Given the description of an element on the screen output the (x, y) to click on. 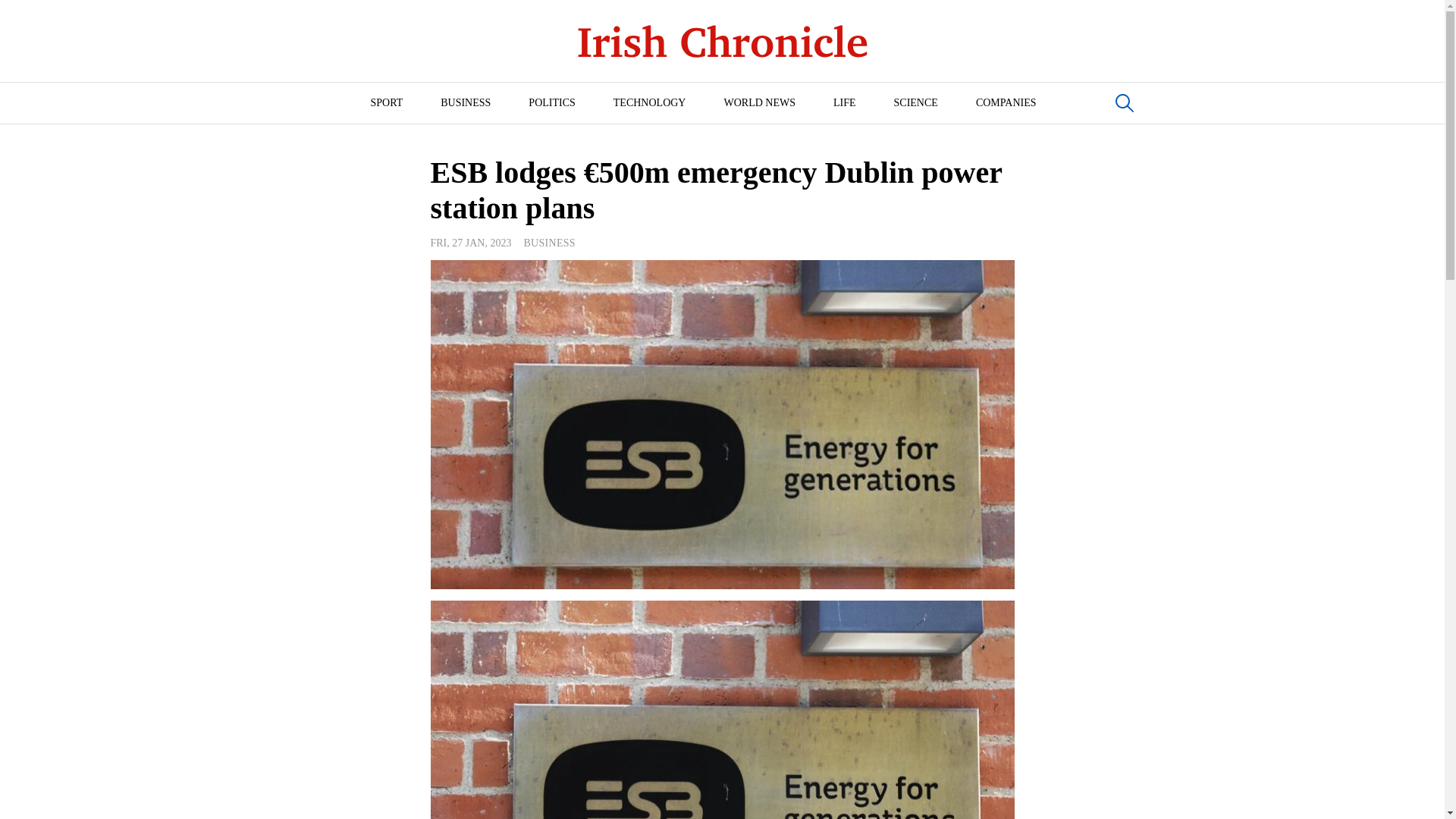
BUSINESS (465, 102)
BUSINESS (548, 242)
COMPANIES (1005, 102)
SCIENCE (915, 102)
SPORT (386, 102)
TECHNOLOGY (649, 102)
POLITICS (551, 102)
WORLD NEWS (758, 102)
LIFE (844, 102)
